Given the description of an element on the screen output the (x, y) to click on. 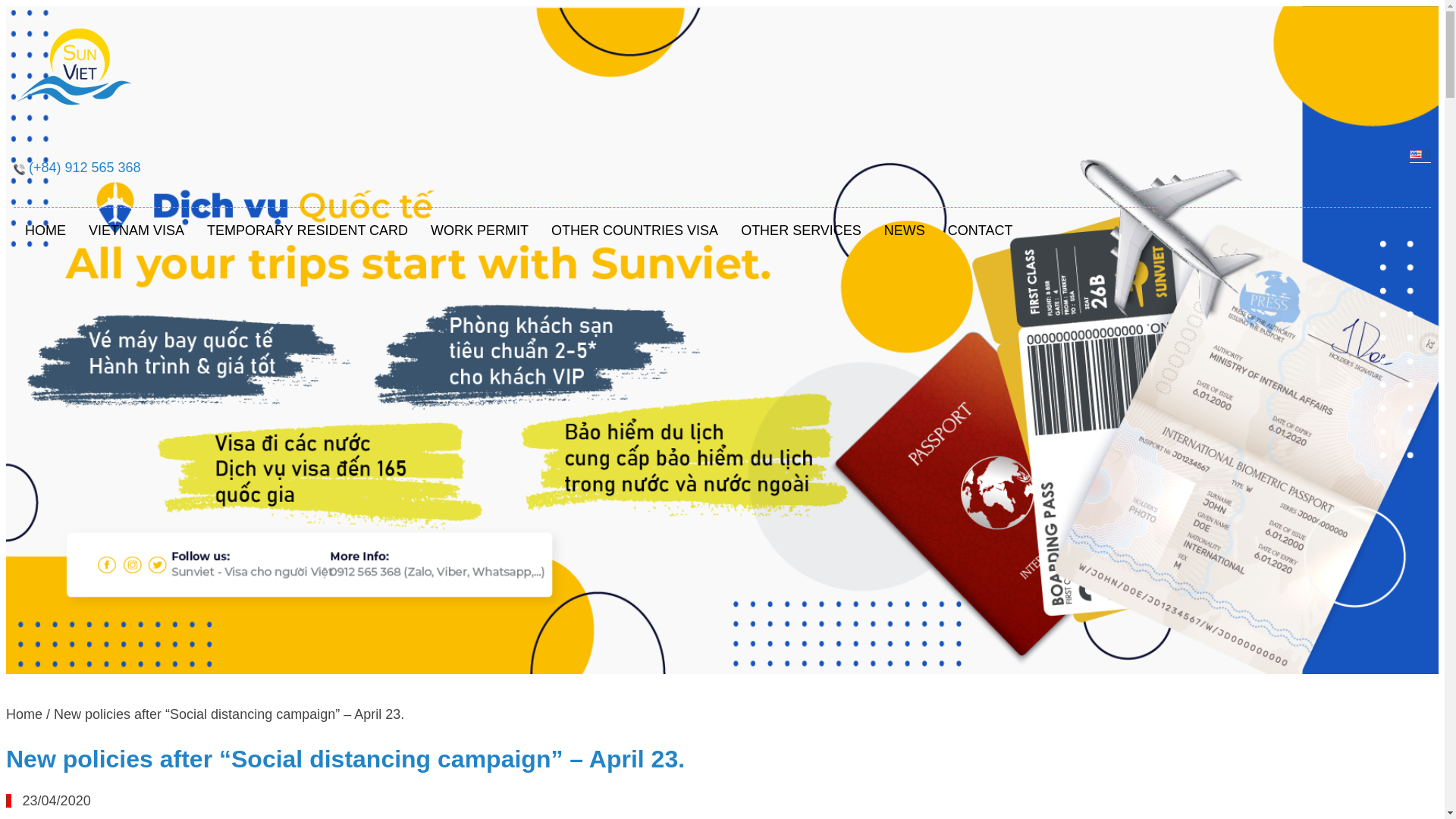
NEWS (903, 230)
VIETNAM VISA (136, 230)
OTHER COUNTRIES VISA (634, 230)
HOME (44, 230)
Home (23, 713)
TEMPORARY RESIDENT CARD (306, 230)
CONTACT (980, 230)
WORK PERMIT (479, 230)
OTHER SERVICES (801, 230)
